Given the description of an element on the screen output the (x, y) to click on. 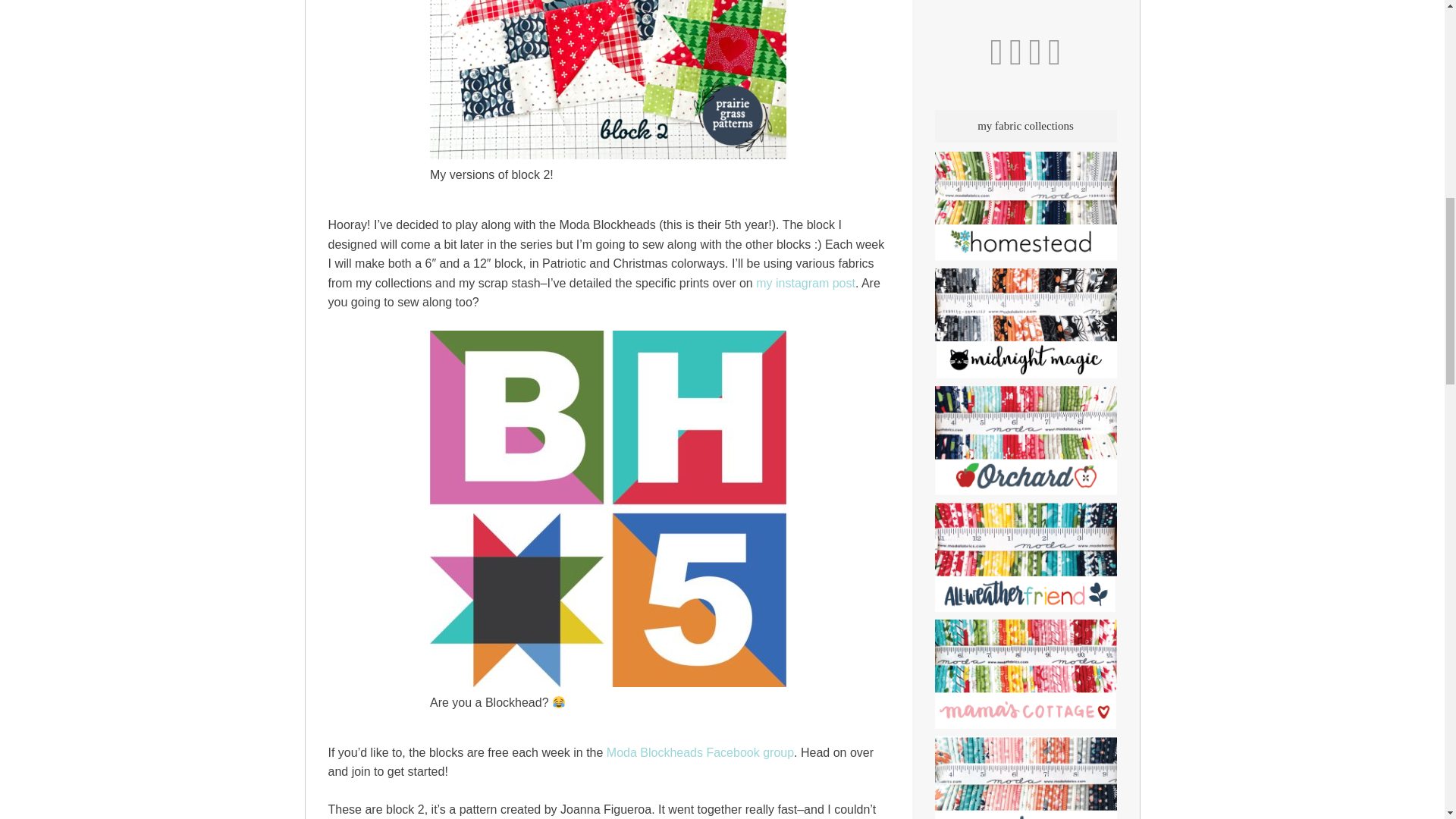
my instagram post (805, 282)
Moda Blockheads Facebook group (700, 752)
